Given the description of an element on the screen output the (x, y) to click on. 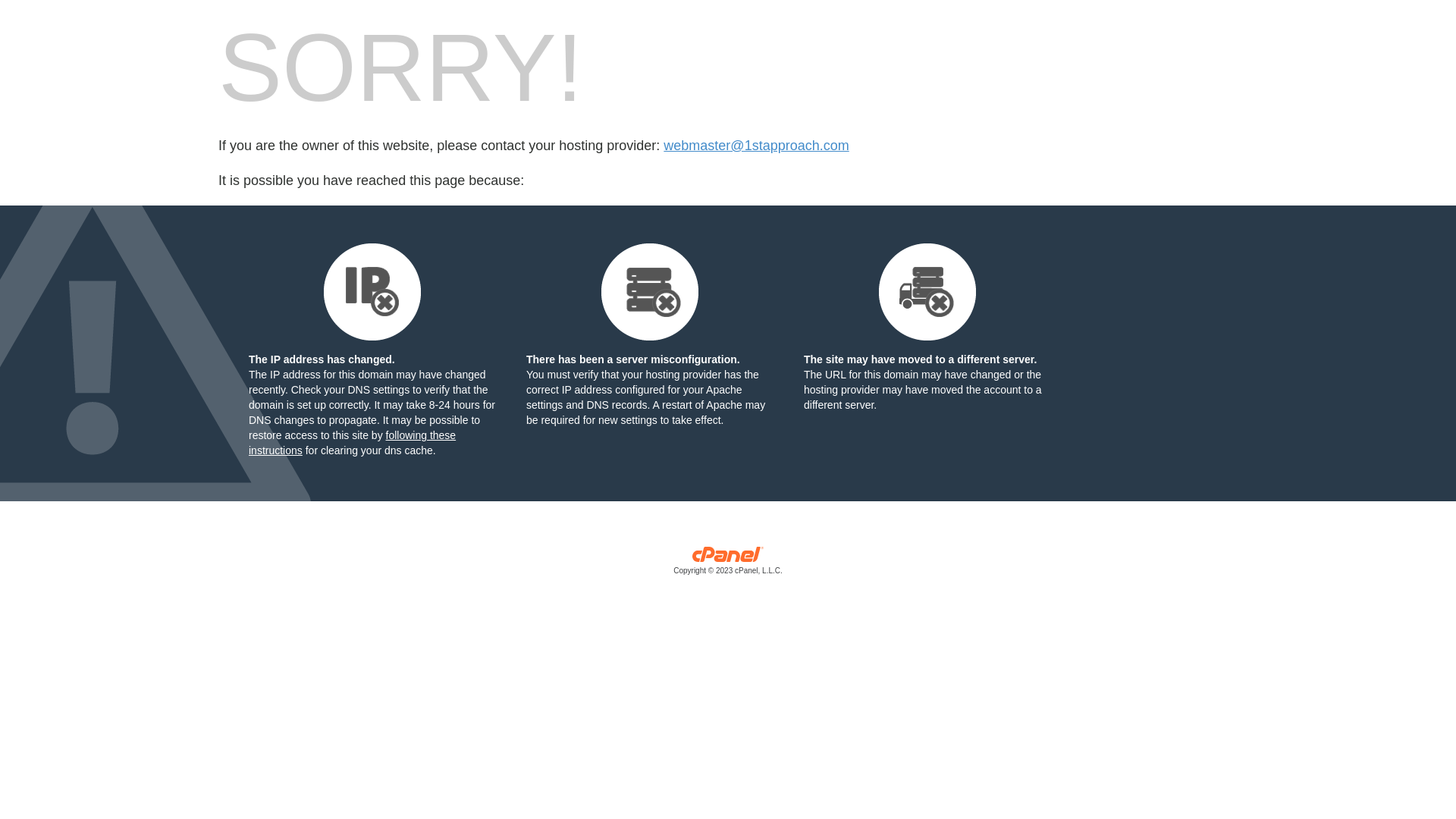
following these instructions Element type: text (351, 442)
webmaster@1stapproach.com Element type: text (755, 145)
